Given the description of an element on the screen output the (x, y) to click on. 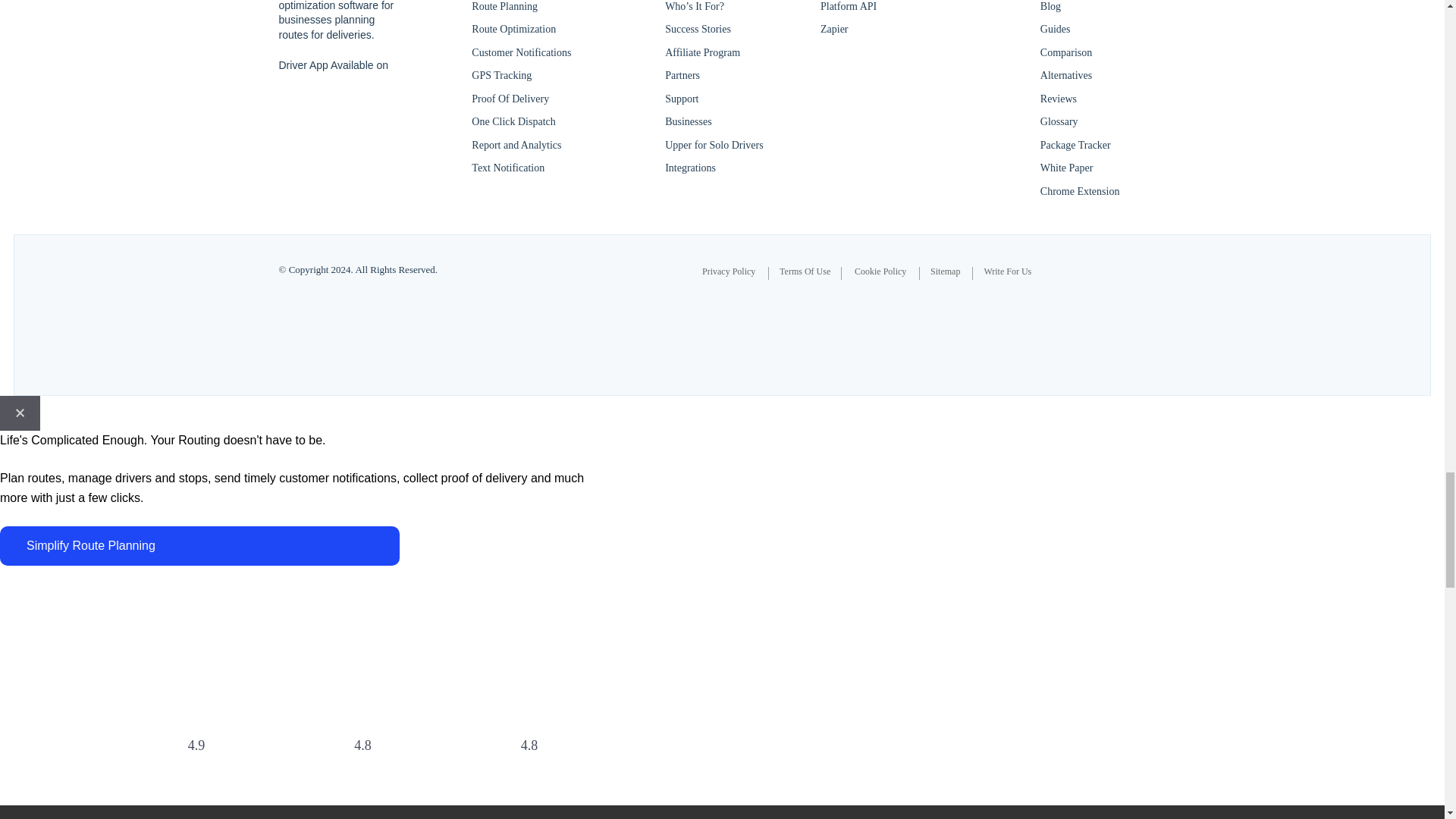
DMCA.com Protection Status (551, 320)
Start a Free Trial (199, 545)
